Given the description of an element on the screen output the (x, y) to click on. 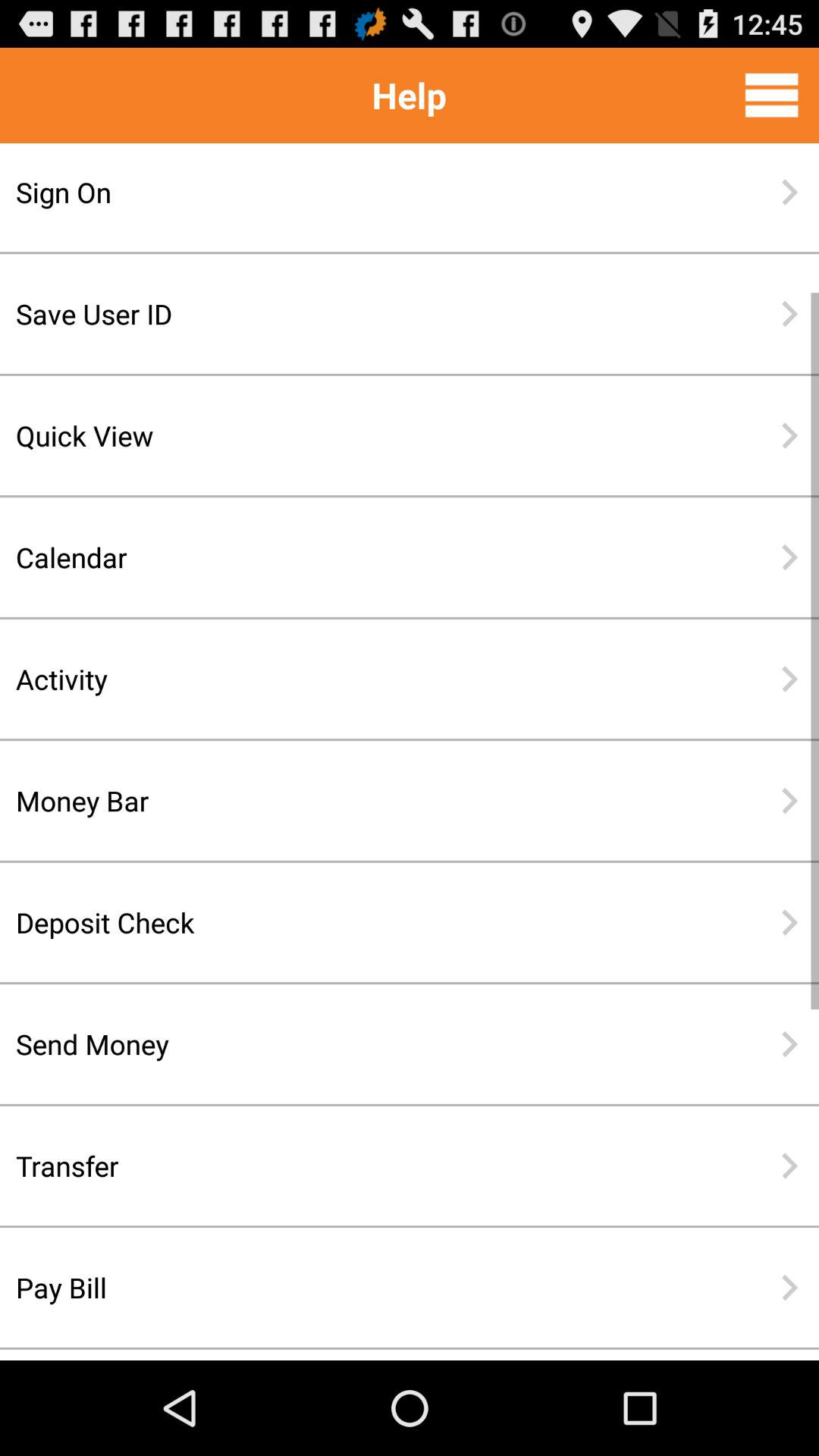
launch the save user id item (359, 313)
